Given the description of an element on the screen output the (x, y) to click on. 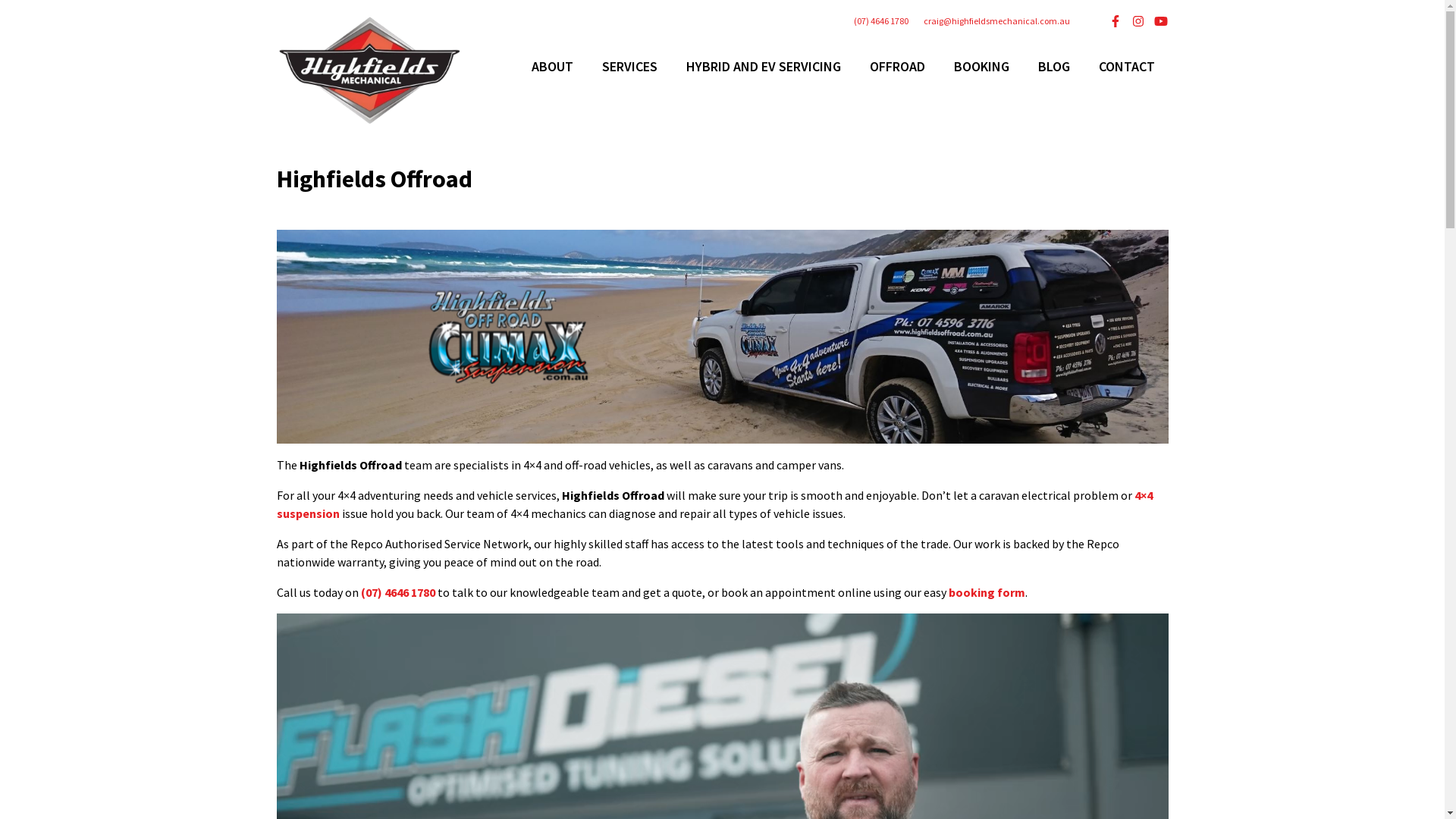
BOOKING Element type: text (981, 66)
(07) 4646 1780 Element type: text (880, 21)
View Highfields Mechanical's YouTube Page Element type: hover (1159, 21)
booking form Element type: text (985, 591)
BLOG Element type: text (1052, 66)
SERVICES Element type: text (629, 66)
ABOUT Element type: text (551, 66)
View Highfields Mechanical's Instagram Page Element type: hover (1137, 21)
CONTACT Element type: text (1125, 66)
craig@highfieldsmechanical.com.au Element type: text (996, 21)
OFFROAD Element type: text (896, 66)
View Highfields Mechanical's Facebook Page Element type: hover (1114, 21)
(07) 4646 1780 Element type: text (397, 591)
HYBRID AND EV SERVICING Element type: text (762, 66)
